Given the description of an element on the screen output the (x, y) to click on. 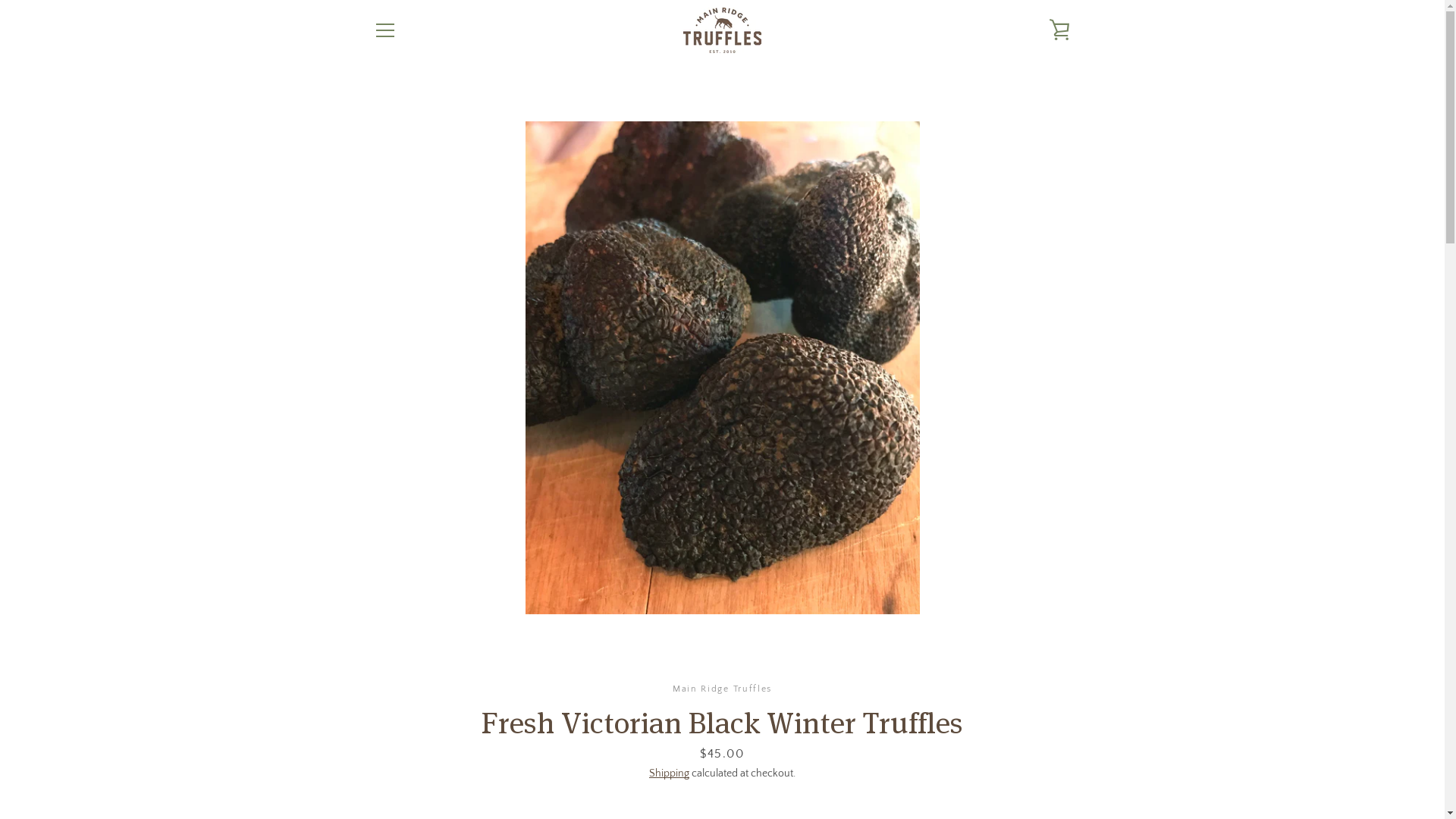
SUBSCRIBE Element type: text (1034, 679)
Skip to content Element type: text (0, 0)
REFUND POLICY Element type: text (410, 682)
MENU Element type: text (384, 30)
SEARCH Element type: text (392, 638)
REFUNDS & RETURNS Element type: text (423, 593)
SHIPPING Element type: text (395, 615)
Main Ridge Truffles Element type: text (760, 766)
TERMS OF SERVICE Element type: text (418, 660)
Facebook Element type: text (372, 765)
Shipping Element type: text (669, 773)
Instagram Element type: text (398, 765)
VIEW CART Element type: text (1059, 30)
